Given the description of an element on the screen output the (x, y) to click on. 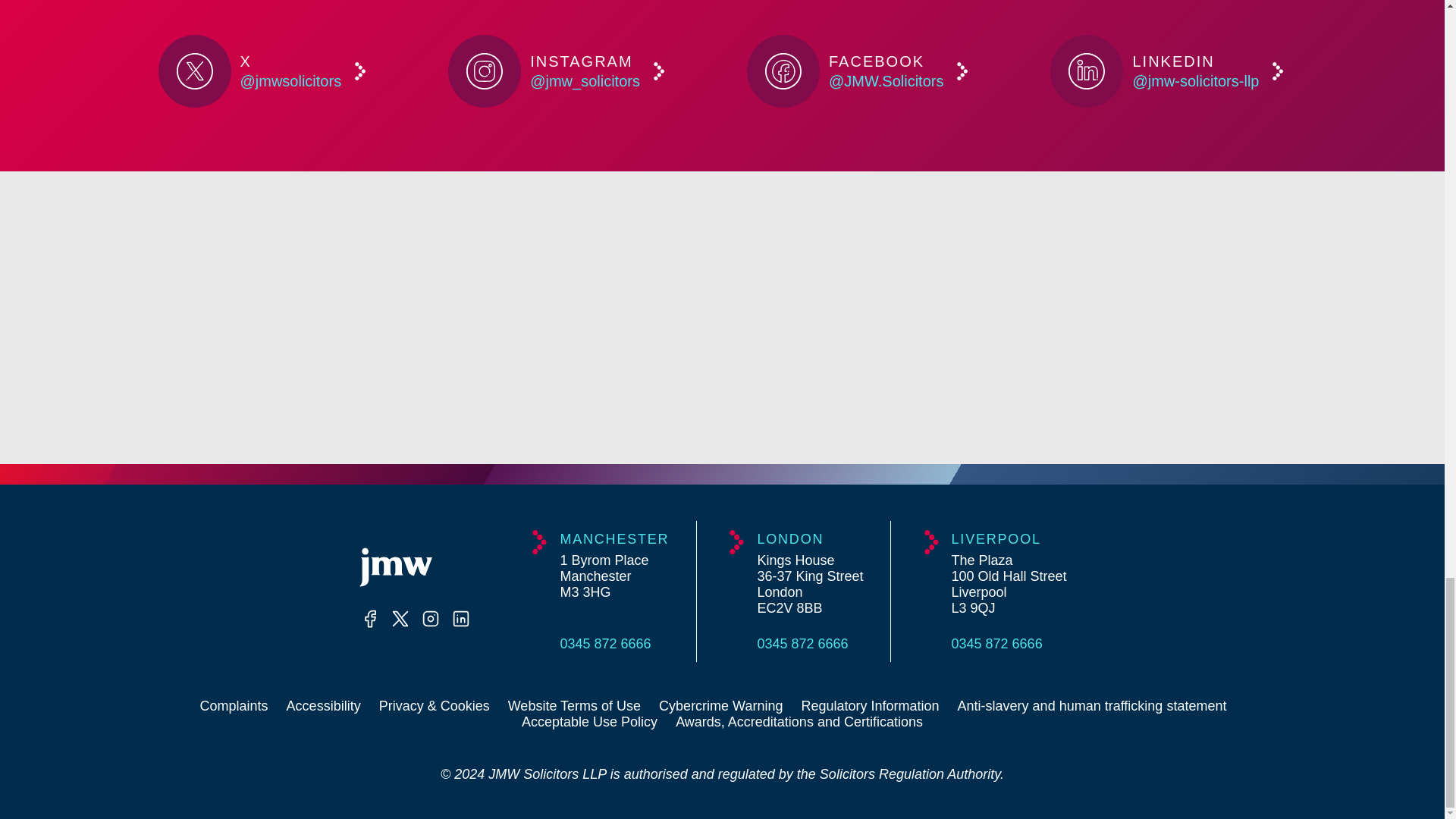
0345 872 6666 (613, 643)
Solicitors Regulation Authority website verification (1224, 317)
LONDON (810, 538)
0345 872 6666 (810, 643)
MANCHESTER (613, 538)
